Given the description of an element on the screen output the (x, y) to click on. 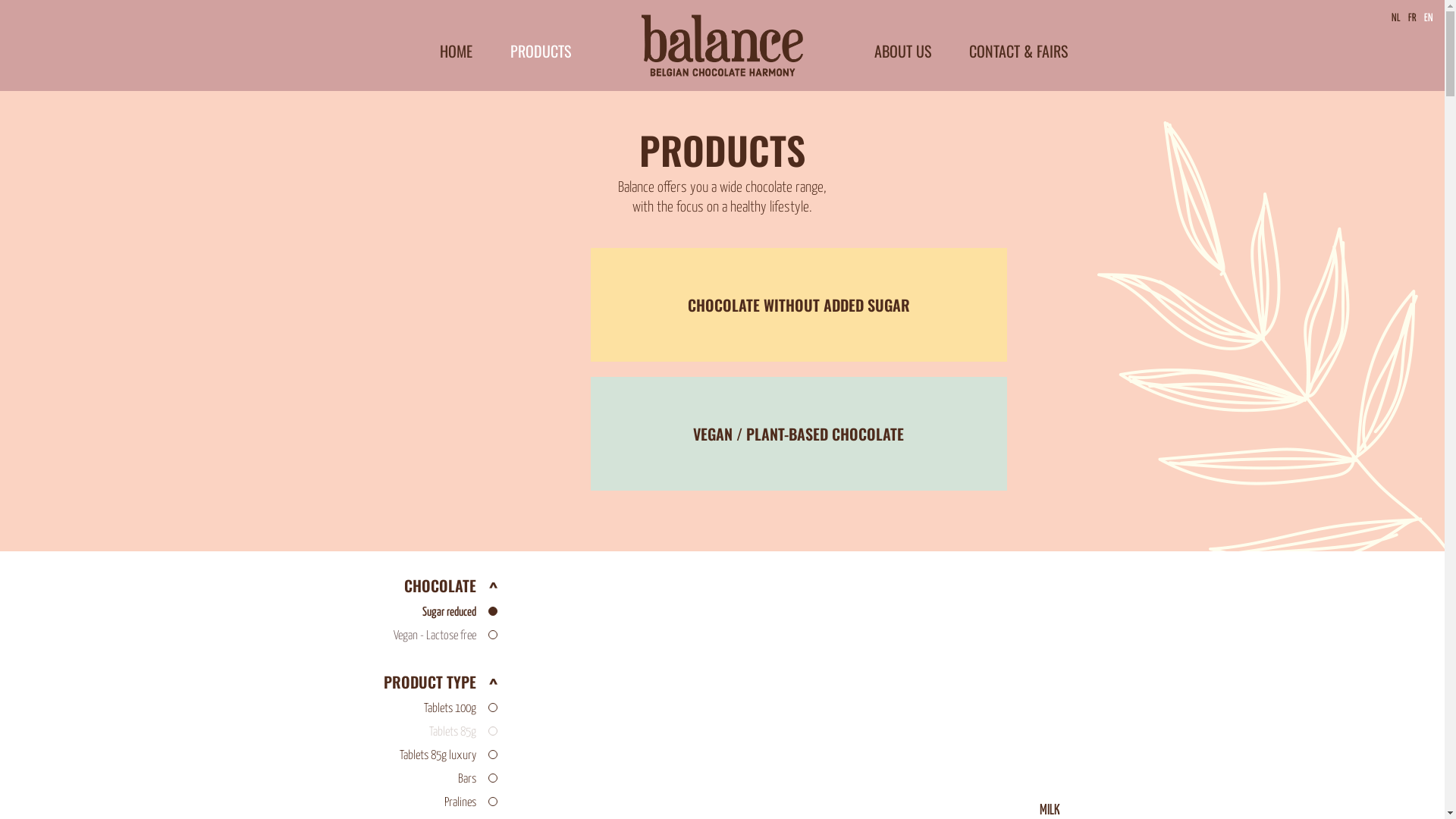
Tablets 85g Element type: text (397, 731)
Bars Element type: text (397, 778)
PRODUCTS Element type: text (539, 50)
NL Element type: text (1395, 18)
Tablets 85g luxury Element type: text (397, 755)
ABOUT US Element type: text (901, 50)
Tablets 100g Element type: text (397, 708)
HOME Element type: text (455, 50)
CONTACT & FAIRS Element type: text (1018, 50)
Pralines Element type: text (397, 802)
Vegan - Lactose free Element type: text (397, 635)
FR Element type: text (1412, 18)
Sugar reduced Element type: text (397, 612)
